Given the description of an element on the screen output the (x, y) to click on. 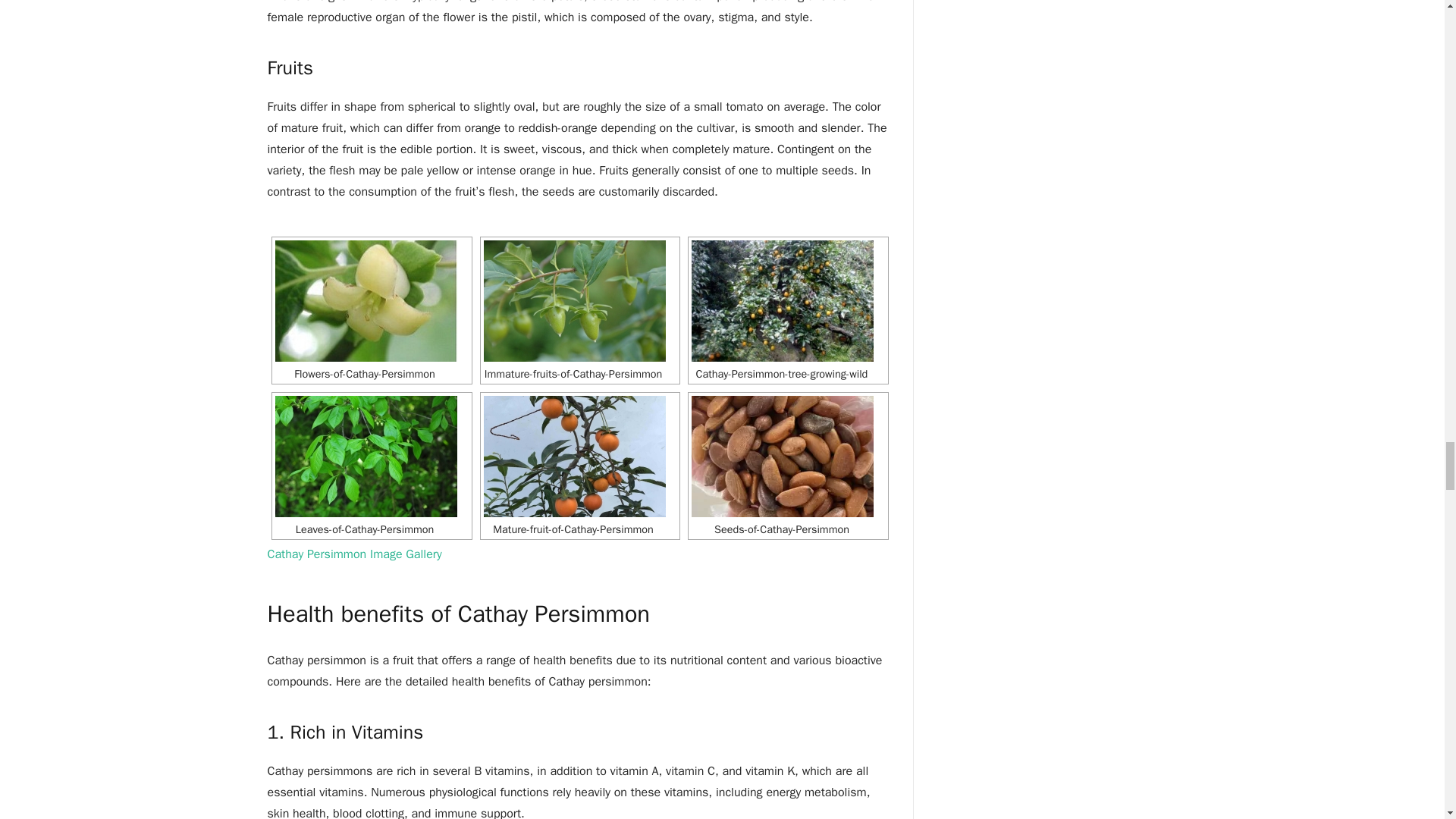
Flowers-of-Cathay-Persimmon (371, 300)
Flowers-of-Cathay-Persimmon (366, 300)
